Given the description of an element on the screen output the (x, y) to click on. 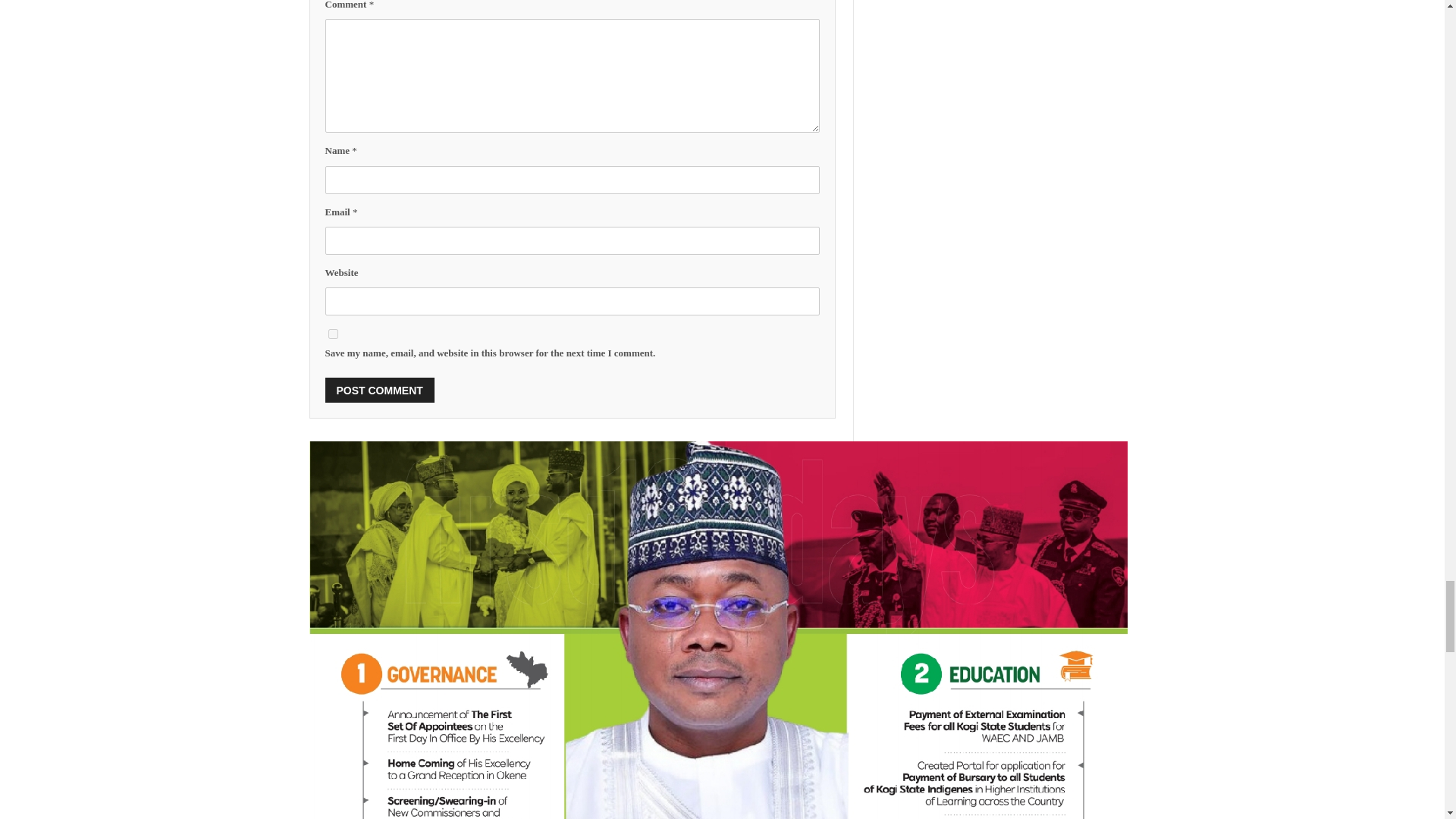
Post Comment (378, 389)
yes (332, 334)
